Given the description of an element on the screen output the (x, y) to click on. 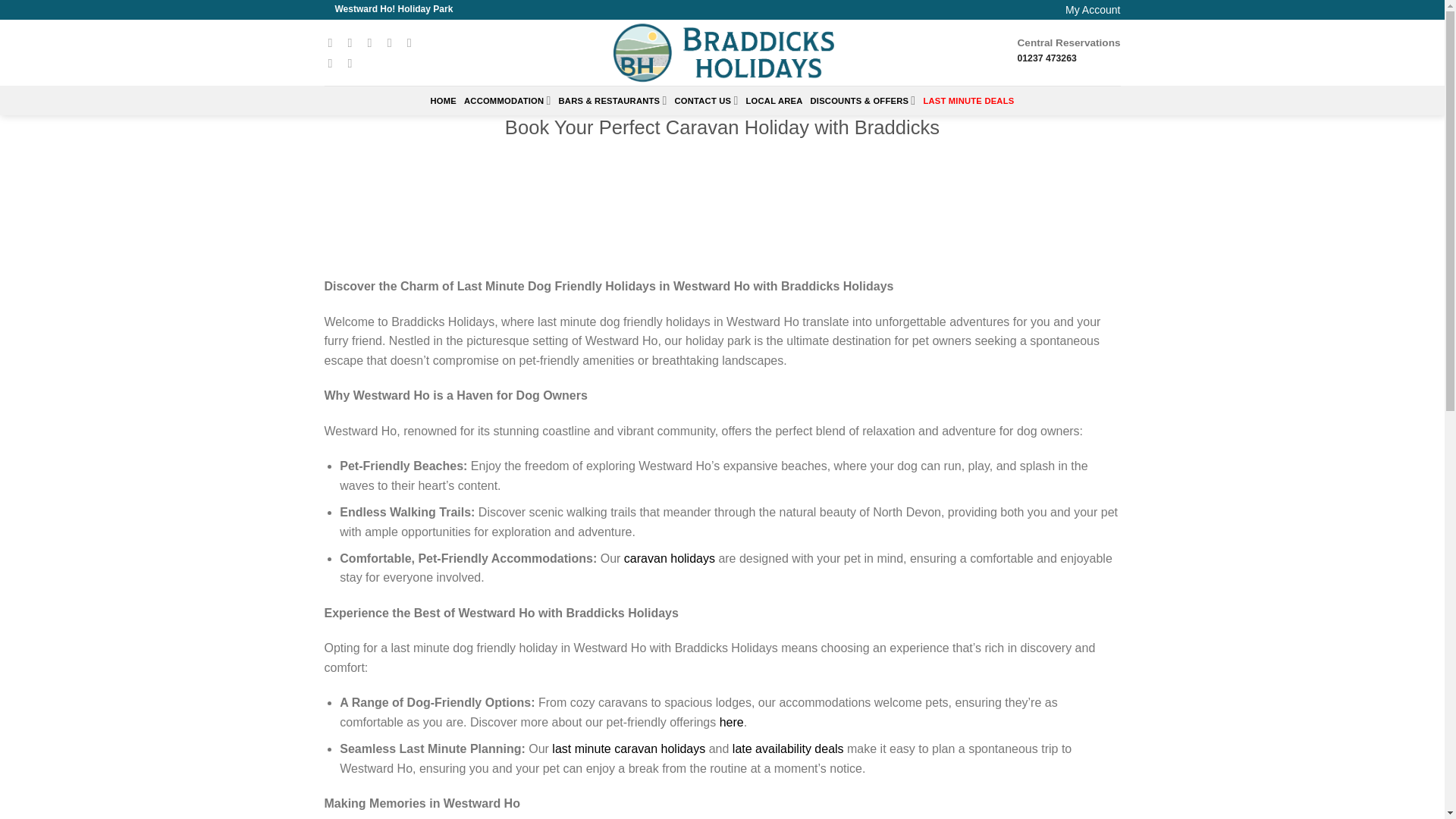
Follow on TikTok (374, 42)
Follow on Instagram (353, 42)
late availability deals (788, 748)
caravan holidays (669, 558)
LAST MINUTE DEALS (968, 100)
LOCAL AREA (774, 100)
ACCOMMODATION (507, 100)
last minute caravan holidays (627, 748)
Braddicks Holidays - Holiday Accommodation North Devon (722, 52)
here (731, 721)
My Account (1092, 9)
Follow on YouTube (353, 62)
CONTACT US (706, 100)
HOME (443, 100)
